Given the description of an element on the screen output the (x, y) to click on. 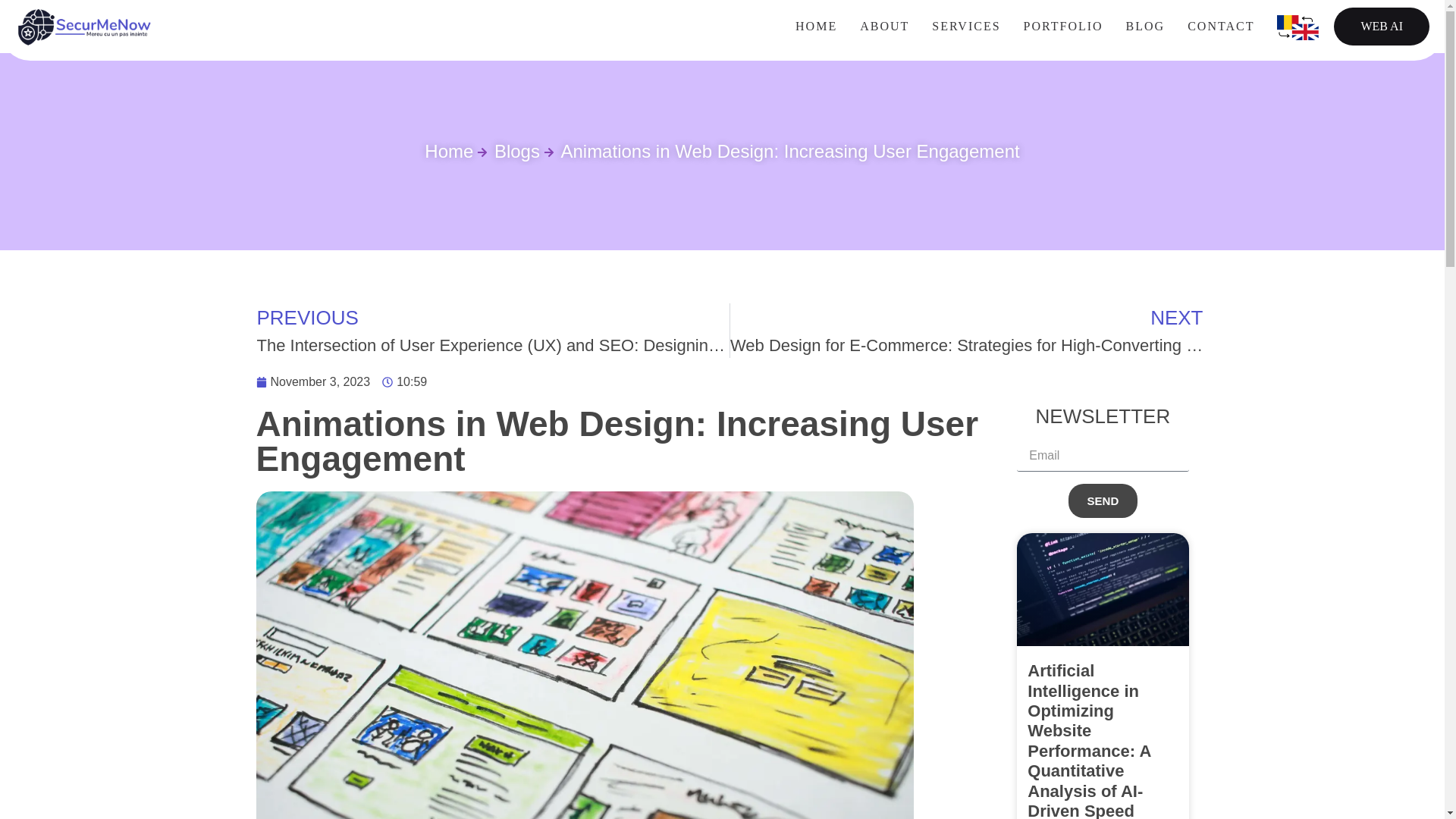
SERVICES (965, 26)
BLOG (1145, 26)
WEB AI (1381, 26)
SEND (1103, 500)
November 3, 2023 (313, 382)
Blogs (508, 151)
ABOUT (884, 26)
Home (449, 151)
CONTACT (1220, 26)
PORTFOLIO (1063, 26)
HOME (815, 26)
